Given the description of an element on the screen output the (x, y) to click on. 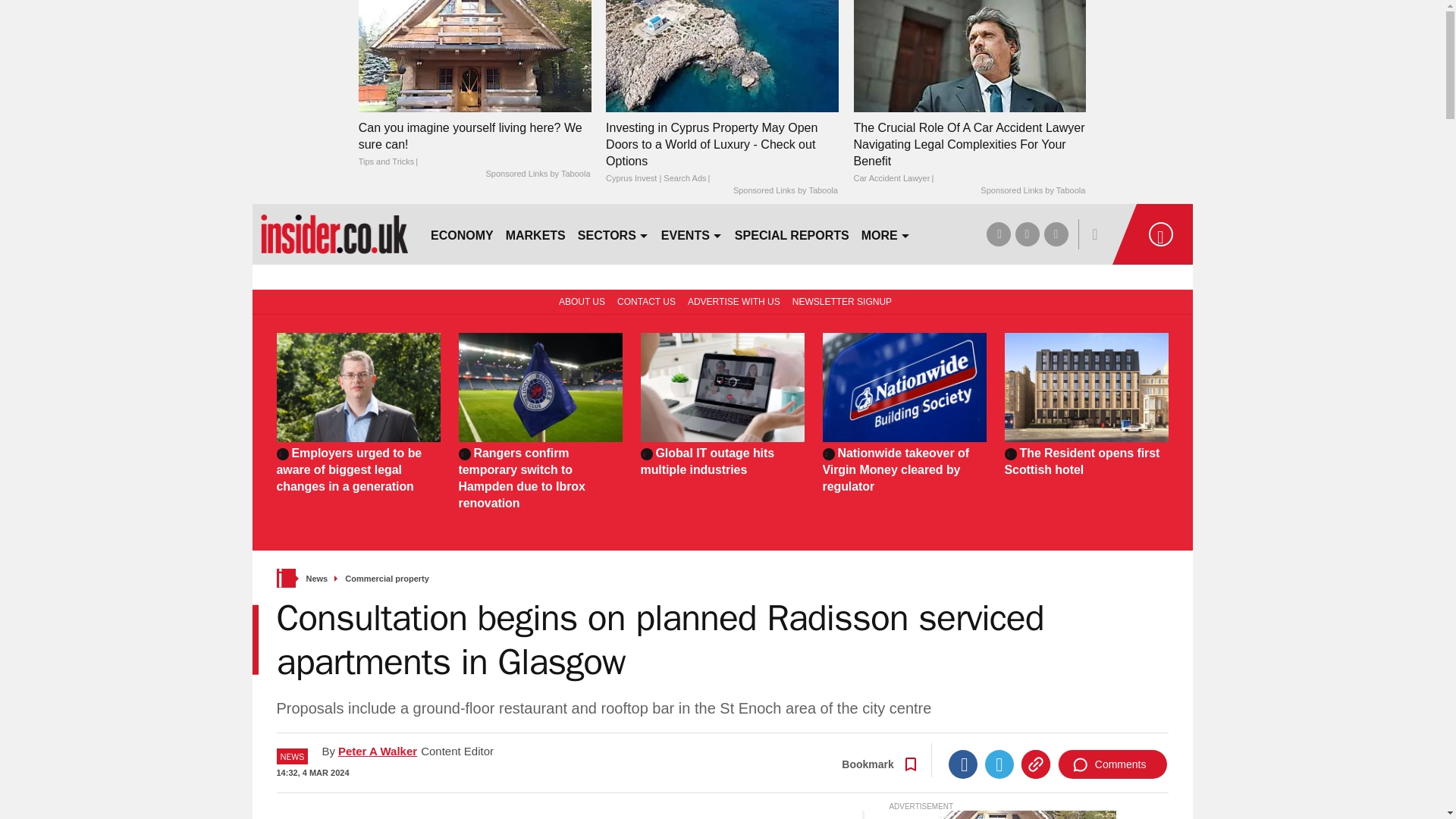
linkedin (1055, 233)
Comments (1112, 764)
ECONOMY (462, 233)
Sponsored Links by Taboola (1031, 190)
MARKETS (535, 233)
twitter (1026, 233)
Sponsored Links by Taboola (785, 190)
SECTORS (613, 233)
Can you imagine yourself living here? We sure can! (474, 55)
Facebook (962, 764)
Sponsored Links by Taboola (536, 174)
Twitter (999, 764)
facebook (997, 233)
